Given the description of an element on the screen output the (x, y) to click on. 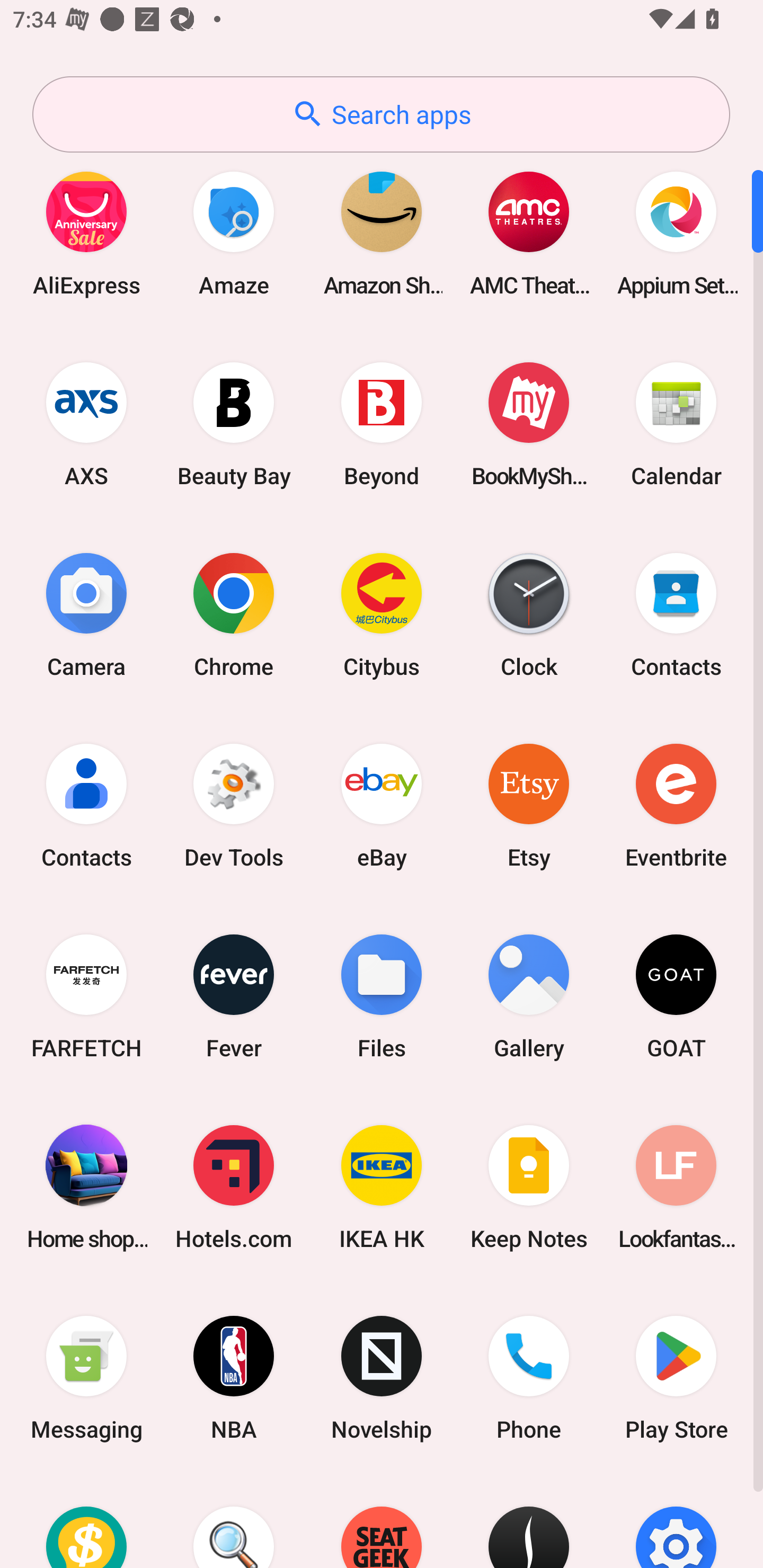
  Search apps (381, 114)
AliExpress (86, 233)
Amaze (233, 233)
Amazon Shopping (381, 233)
AMC Theatres (528, 233)
Appium Settings (676, 233)
AXS (86, 424)
Beauty Bay (233, 424)
Beyond (381, 424)
BookMyShow (528, 424)
Calendar (676, 424)
Camera (86, 614)
Chrome (233, 614)
Citybus (381, 614)
Clock (528, 614)
Contacts (676, 614)
Contacts (86, 805)
Dev Tools (233, 805)
eBay (381, 805)
Etsy (528, 805)
Eventbrite (676, 805)
FARFETCH (86, 996)
Fever (233, 996)
Files (381, 996)
Gallery (528, 996)
GOAT (676, 996)
Home shopping (86, 1186)
Hotels.com (233, 1186)
IKEA HK (381, 1186)
Keep Notes (528, 1186)
Lookfantastic (676, 1186)
Messaging (86, 1377)
NBA (233, 1377)
Novelship (381, 1377)
Phone (528, 1377)
Play Store (676, 1377)
